Given the description of an element on the screen output the (x, y) to click on. 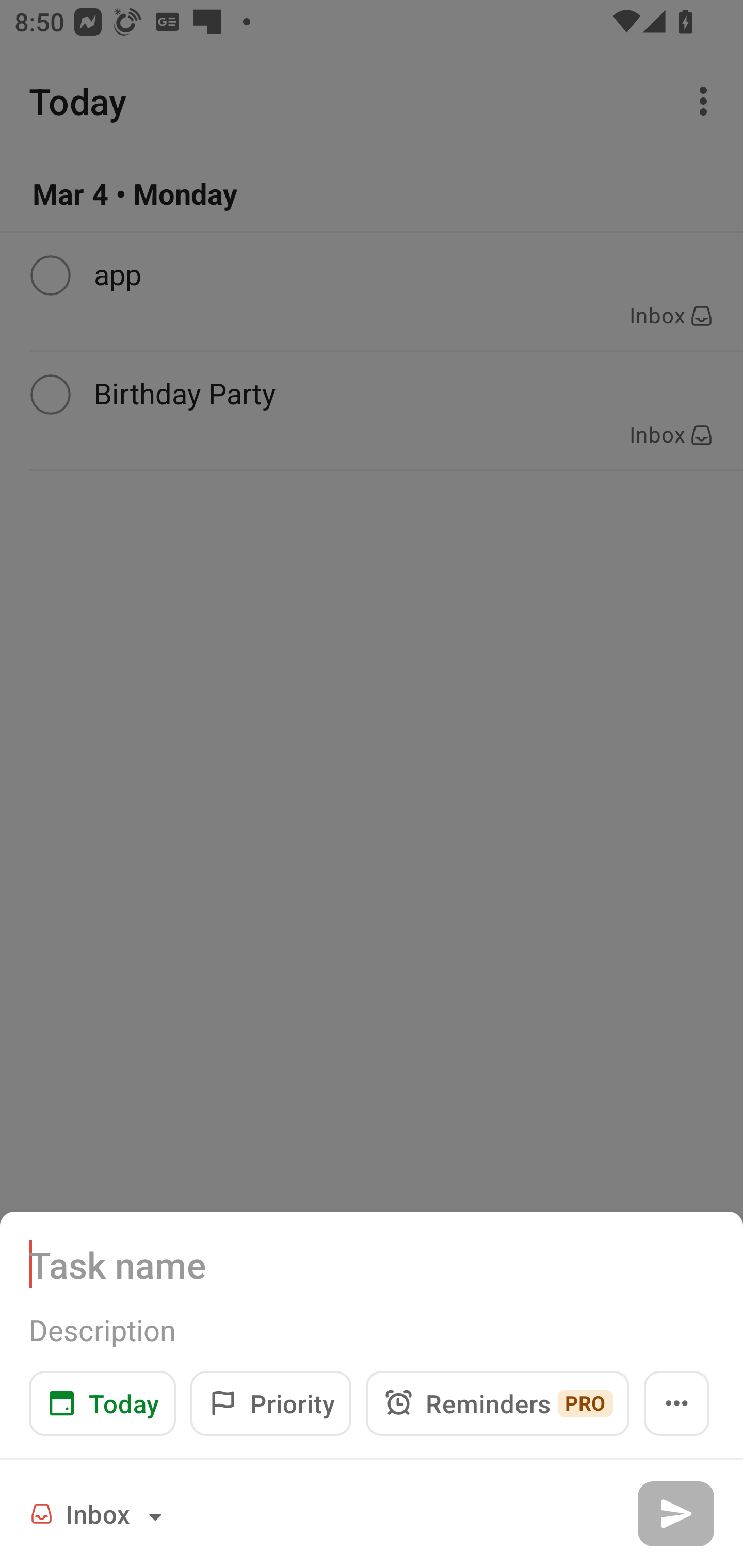
Task name (371, 1264)
Description (371, 1330)
Today Date (102, 1403)
Priority (270, 1403)
Reminders PRO Reminders (497, 1403)
Open menu (676, 1403)
Inbox Project (99, 1513)
Add (675, 1513)
